Given the description of an element on the screen output the (x, y) to click on. 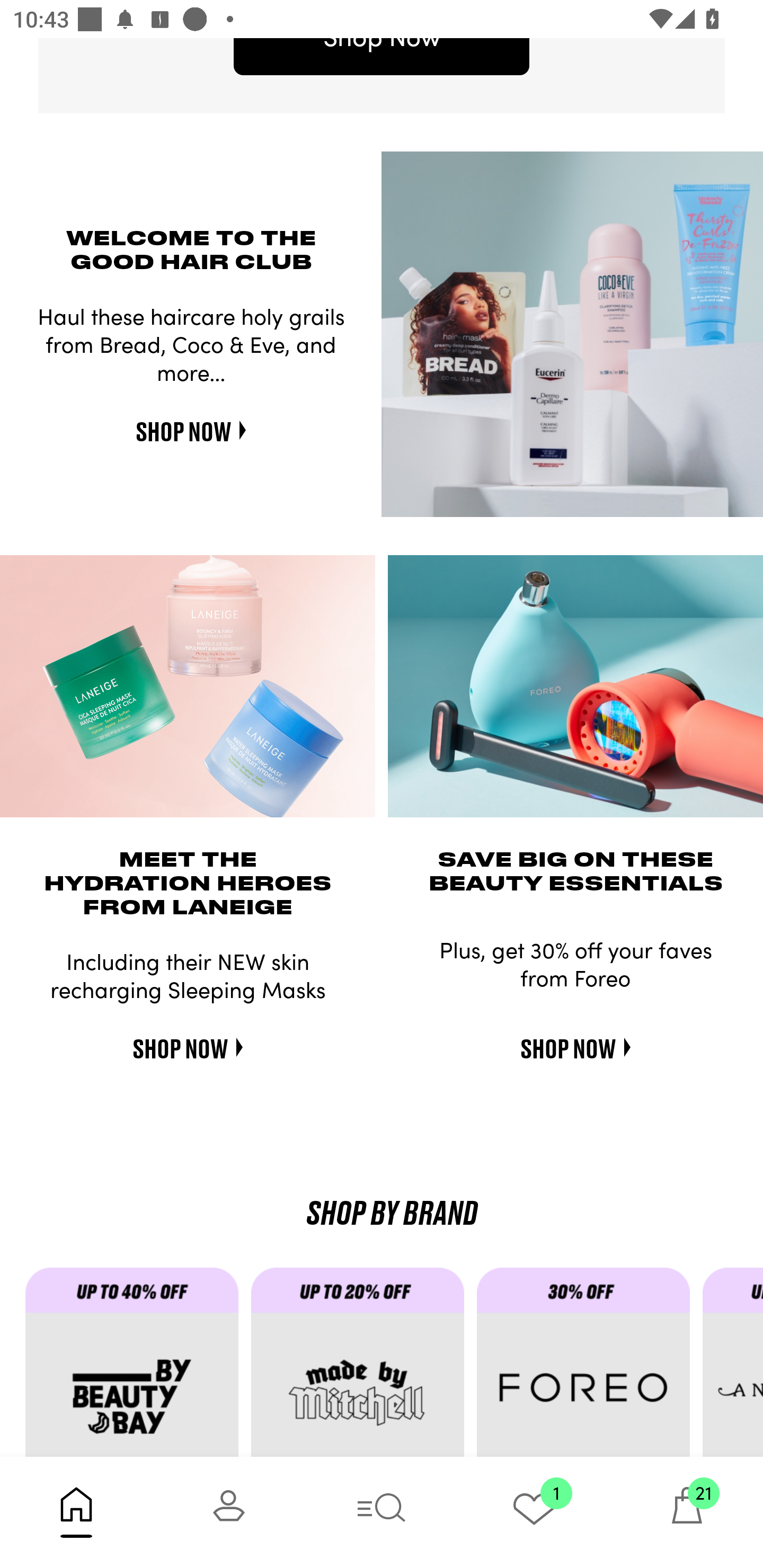
1 (533, 1512)
21 (686, 1512)
